Given the description of an element on the screen output the (x, y) to click on. 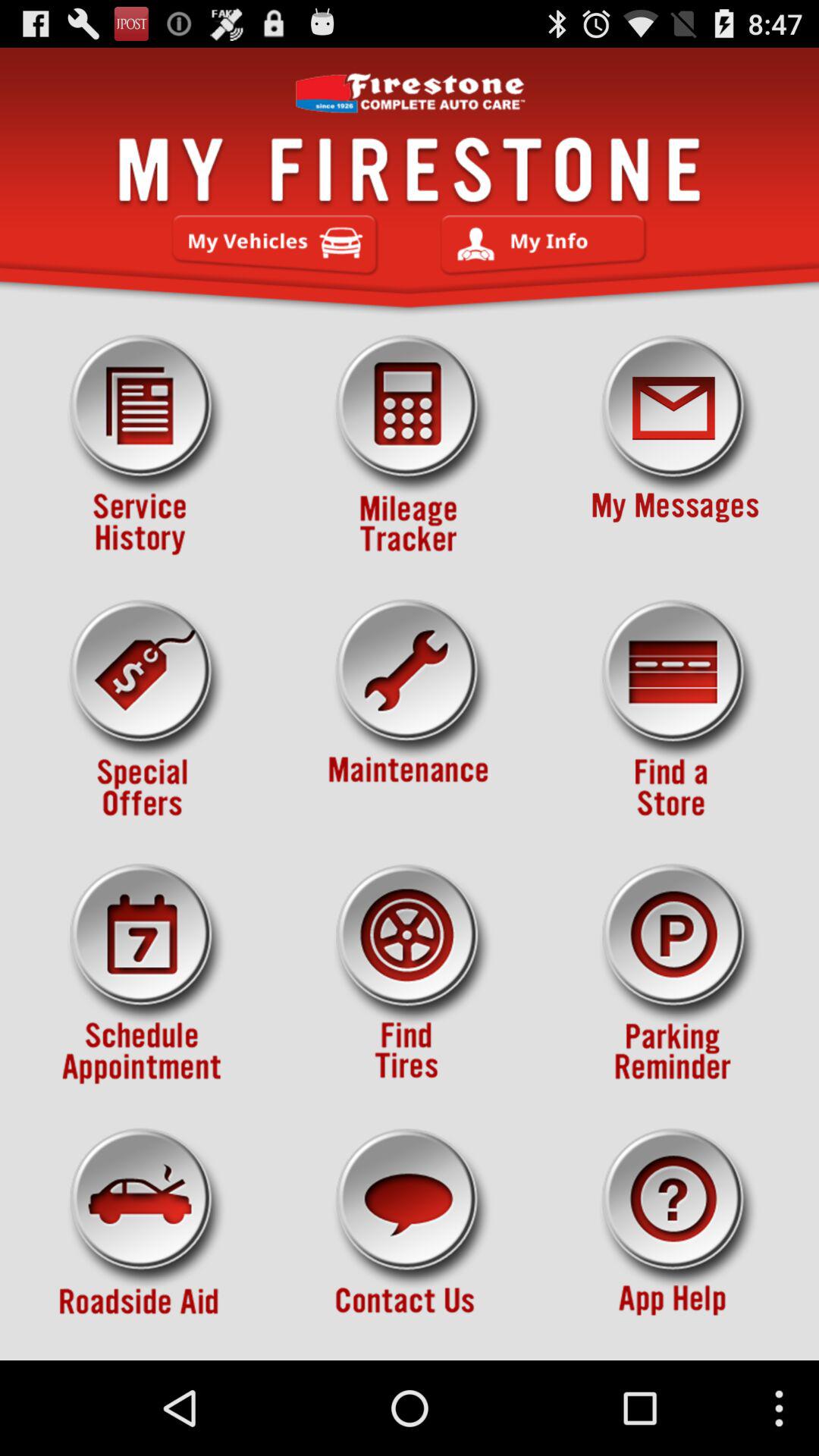
show my cars (275, 245)
